Given the description of an element on the screen output the (x, y) to click on. 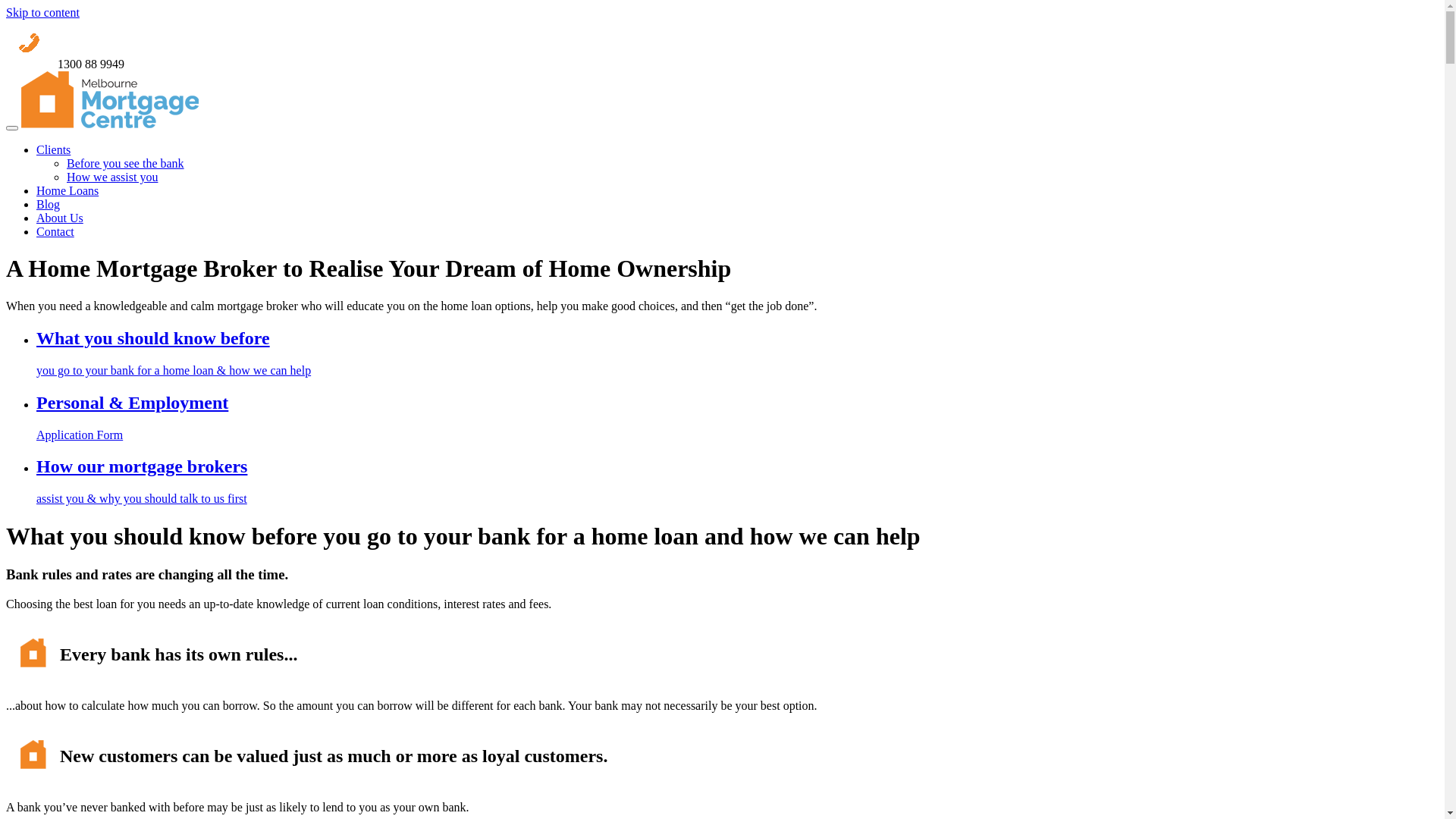
About Us Element type: text (59, 217)
Skip to content Element type: text (42, 12)
Personal & Employment
Application Form Element type: text (269, 417)
Blog Element type: text (47, 203)
How we assist you Element type: text (111, 176)
Contact Element type: text (55, 231)
Before you see the bank Element type: text (125, 162)
Home Loans Element type: text (67, 190)
Clients Element type: text (53, 149)
